Given the description of an element on the screen output the (x, y) to click on. 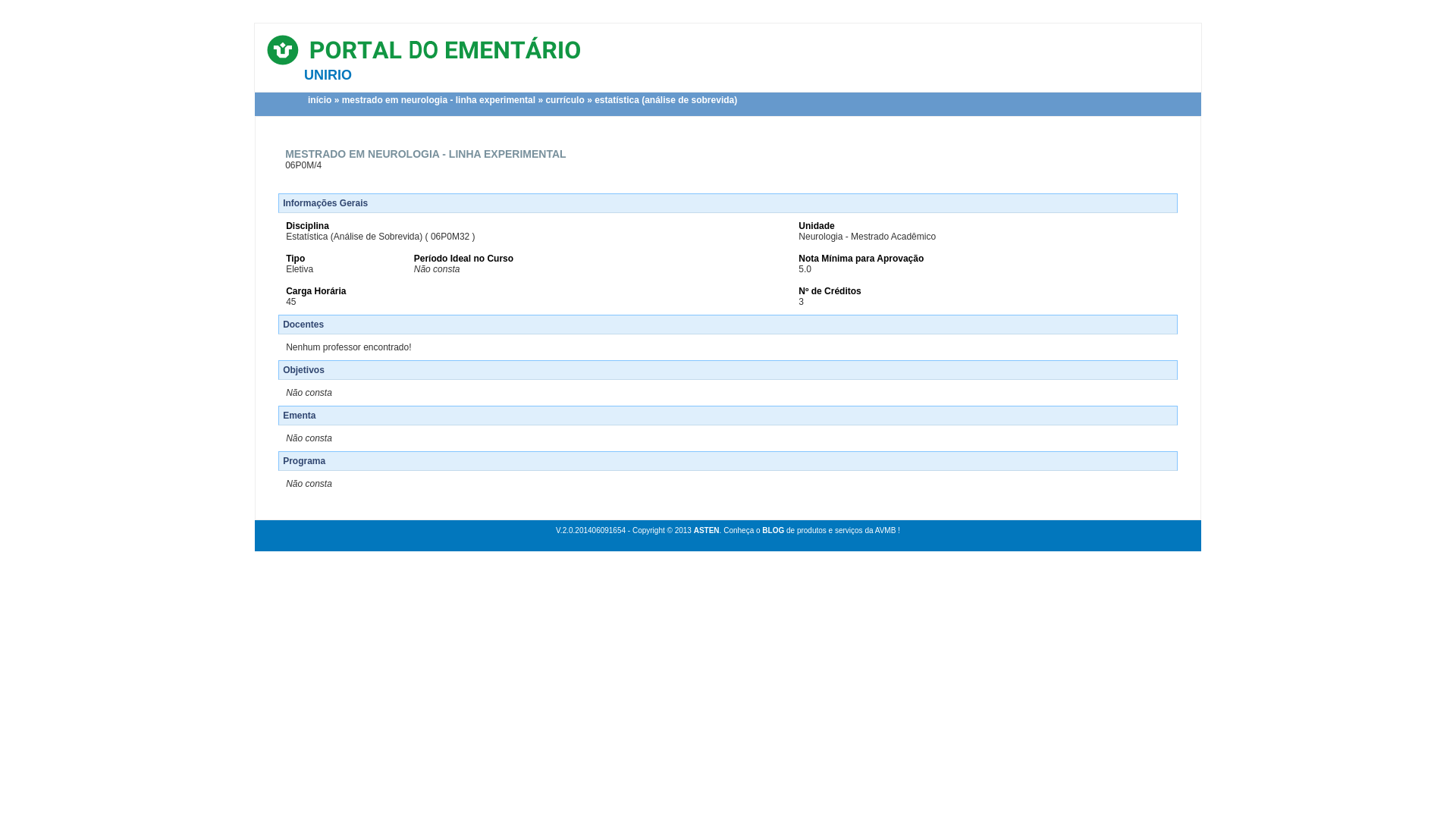
UNIRIO Element type: text (327, 74)
mestrado em neurologia - linha experimental Element type: text (438, 99)
ASTEN Element type: text (706, 530)
BLOG Element type: text (773, 530)
